Given the description of an element on the screen output the (x, y) to click on. 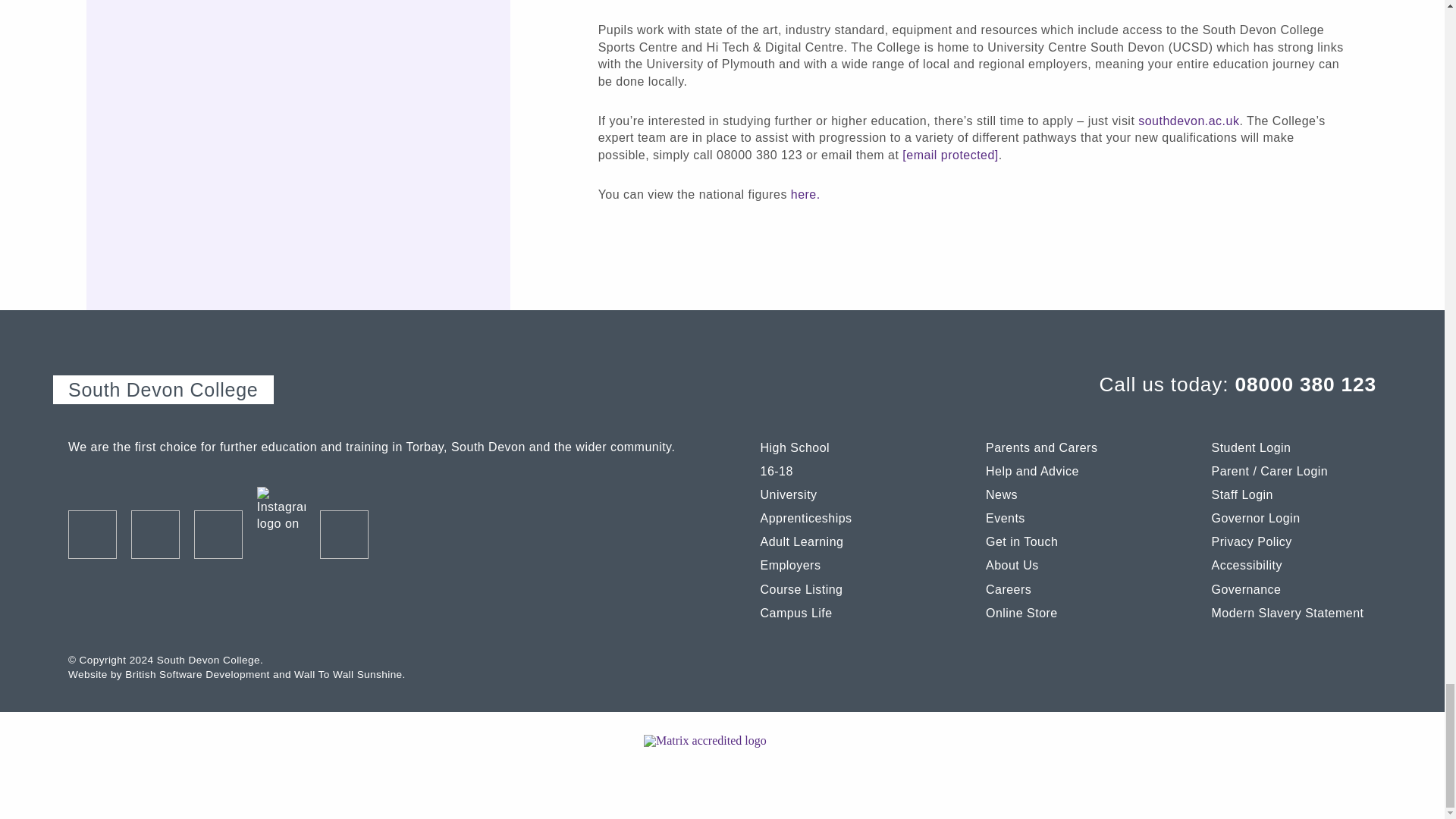
Employers (842, 562)
News (1068, 492)
Help and Advice (1068, 468)
Parents and Carers (1068, 447)
Adult Learning (842, 539)
Events (1068, 515)
Campus Life (842, 610)
Course Listing (842, 586)
Apprenticeships (842, 515)
16-18 (842, 468)
University (842, 492)
High School (842, 447)
